Given the description of an element on the screen output the (x, y) to click on. 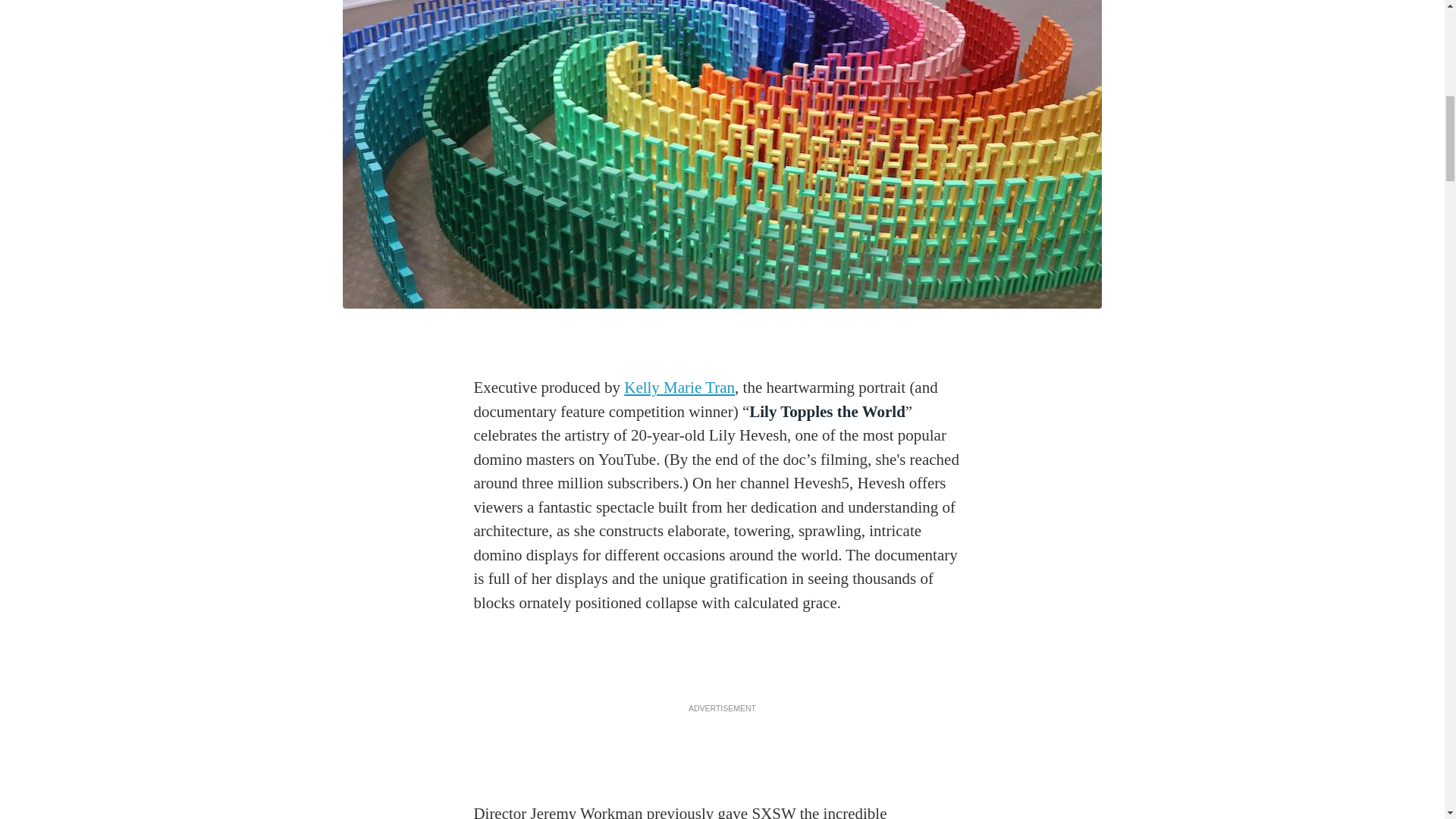
Kelly Marie Tran (679, 387)
